Given the description of an element on the screen output the (x, y) to click on. 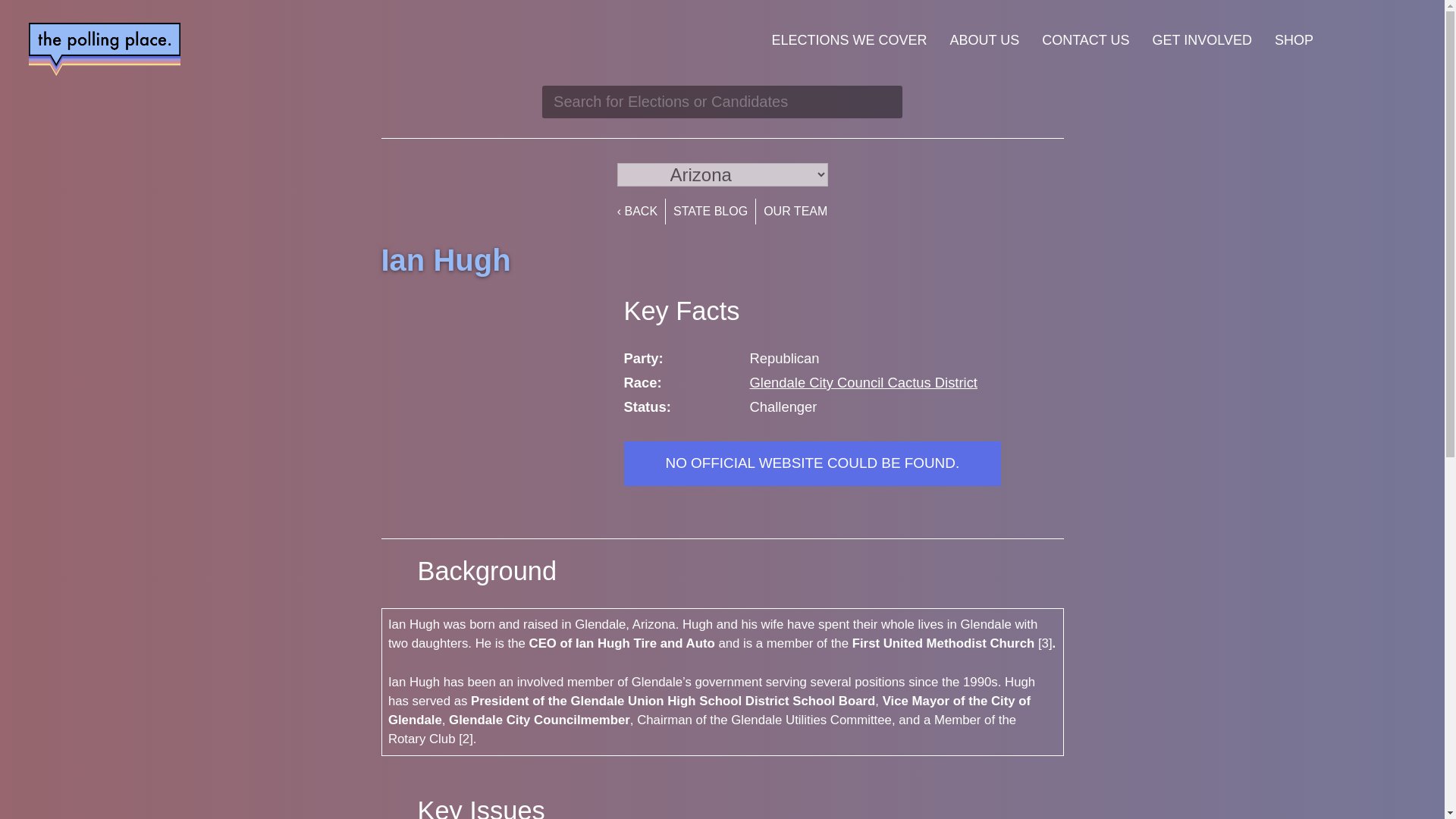
STATE BLOG (710, 211)
GET INVOLVED (1202, 40)
OUR TEAM (795, 211)
Search (880, 102)
Glendale City Council Cactus District (862, 382)
CONTACT US (1085, 40)
EMAIL (1396, 40)
FACEBOOK (1336, 40)
INSTAGRAM (1366, 40)
NO OFFICIAL WEBSITE COULD BE FOUND. (812, 463)
